Given the description of an element on the screen output the (x, y) to click on. 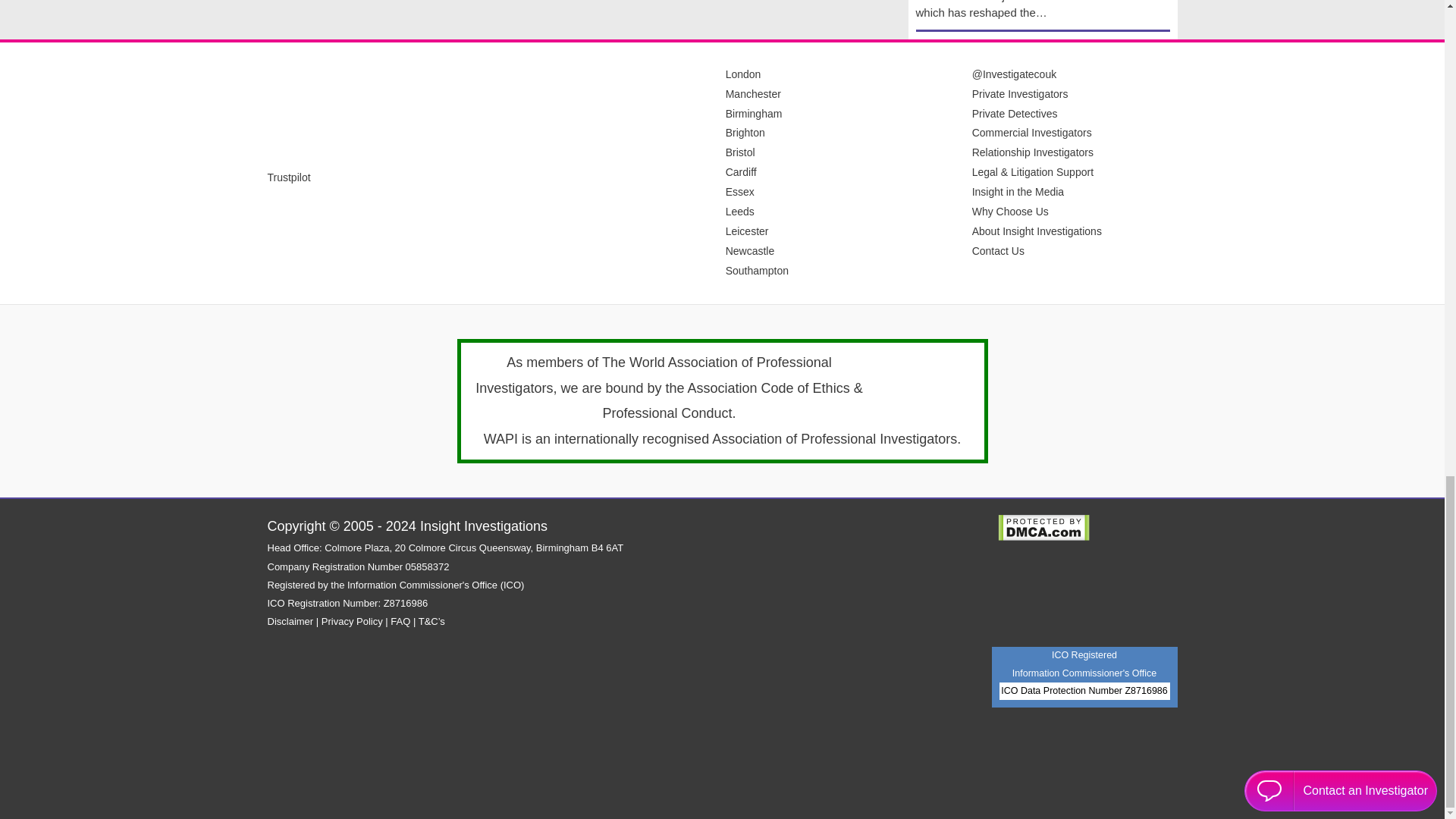
DMCA.com Protection Status (1043, 526)
